Given the description of an element on the screen output the (x, y) to click on. 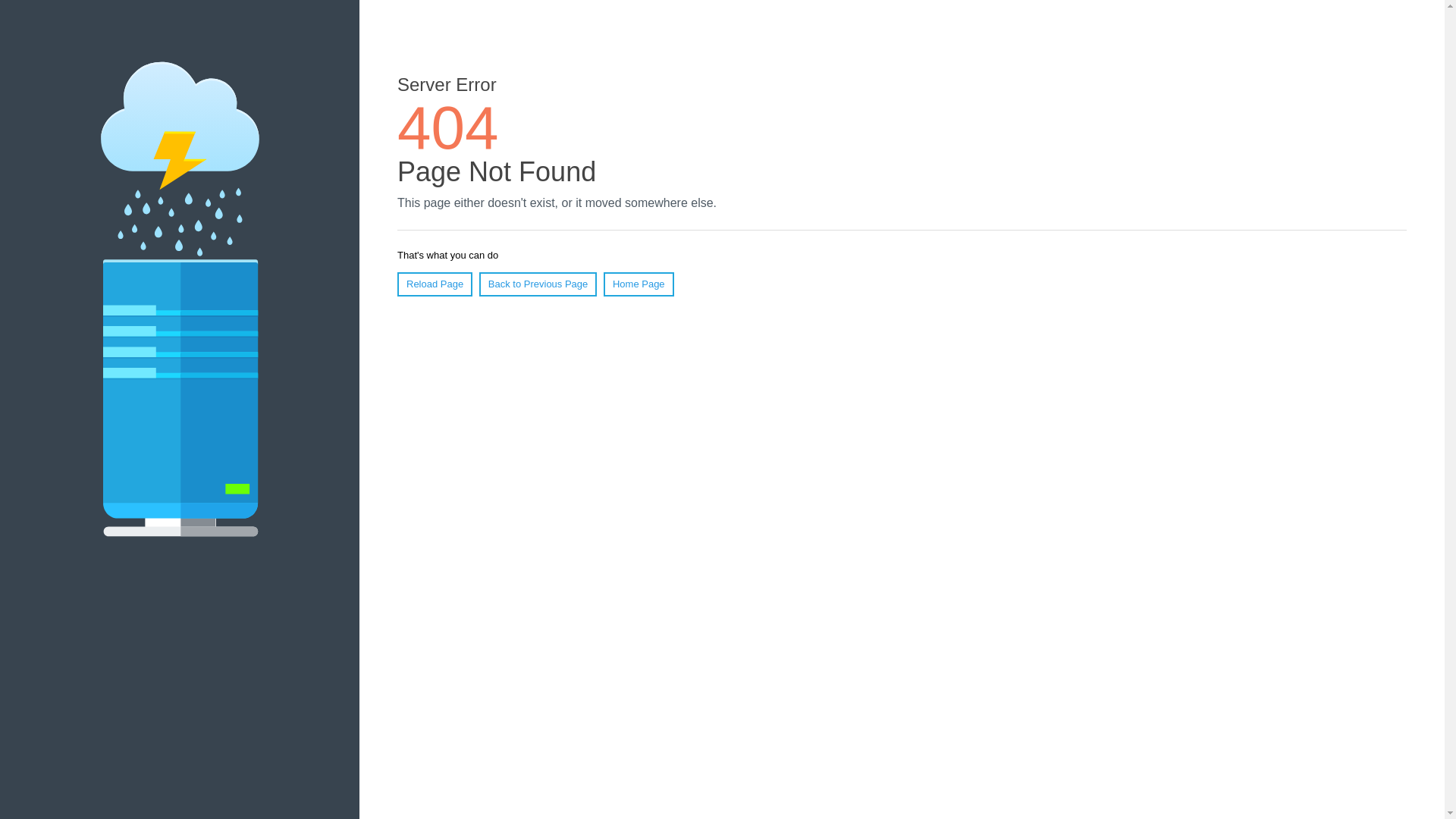
Back to Previous Page Element type: text (538, 284)
Home Page Element type: text (638, 284)
Reload Page Element type: text (434, 284)
